Given the description of an element on the screen output the (x, y) to click on. 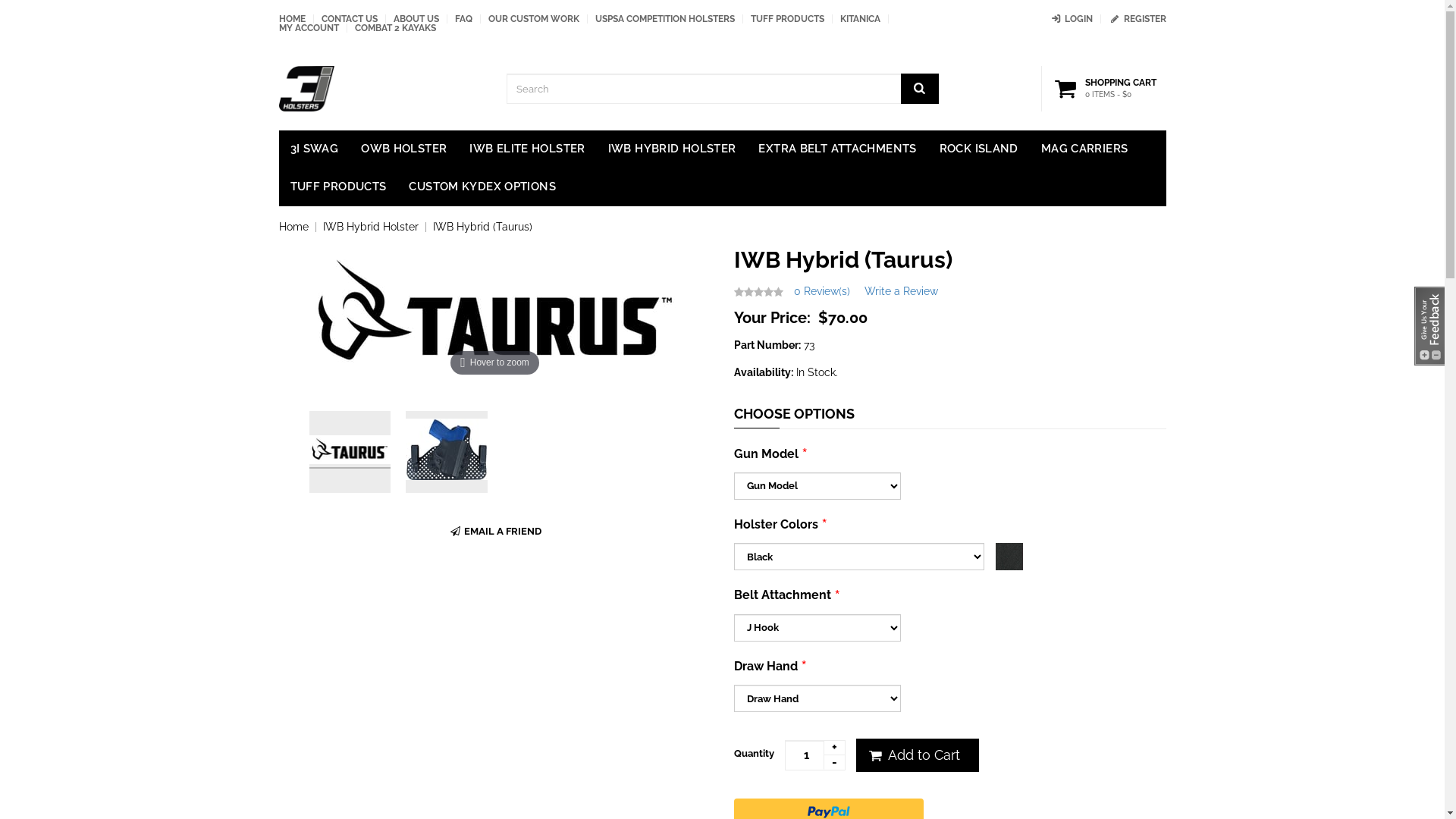
ROCK ISLAND Element type: text (978, 149)
Write a Review Element type: text (901, 291)
CONTACT US Element type: text (349, 18)
Zoom in on Image(s)
Hover to zoom Element type: text (494, 313)
KITANICA Element type: text (860, 18)
0 Review(s) Element type: text (821, 291)
IWB ELITE HOLSTER Element type: text (527, 149)
3I SWAG Element type: text (314, 149)
TUFF PRODUCTS Element type: text (338, 187)
HOME Element type: text (292, 18)
REGISTER Element type: text (1137, 18)
MAG CARRIERS Element type: text (1084, 149)
CUSTOM KYDEX OPTIONS Element type: text (482, 187)
Home Element type: text (293, 226)
OWB HOLSTER Element type: text (403, 149)
Thumbnail Element type: text (350, 451)
TUFF PRODUCTS Element type: text (787, 18)
ABOUT US Element type: text (415, 18)
Submit Element type: text (732, 771)
IWB Hybrid (Taurus) Element type: text (481, 226)
FAQ Element type: text (463, 18)
IWB HYBRID HOLSTER Element type: text (671, 149)
IWB Hybrid Holster Element type: text (370, 226)
MY ACCOUNT Element type: text (308, 27)
SHOPPING CART
0 ITEMS - $0 Element type: text (1107, 88)
Feedback Element type: hover (1429, 325)
+ Element type: text (833, 747)
EXTRA BELT ATTACHMENTS Element type: text (836, 149)
COMBAT 2 KAYAKS Element type: text (395, 27)
EMAIL A FRIEND Element type: text (494, 531)
OUR CUSTOM WORK Element type: text (533, 18)
USPSA COMPETITION HOLSTERS Element type: text (664, 18)
- Element type: text (833, 762)
Add to Cart Element type: text (916, 754)
Thumbnail Element type: text (446, 451)
LOGIN Element type: text (1070, 18)
